Given the description of an element on the screen output the (x, y) to click on. 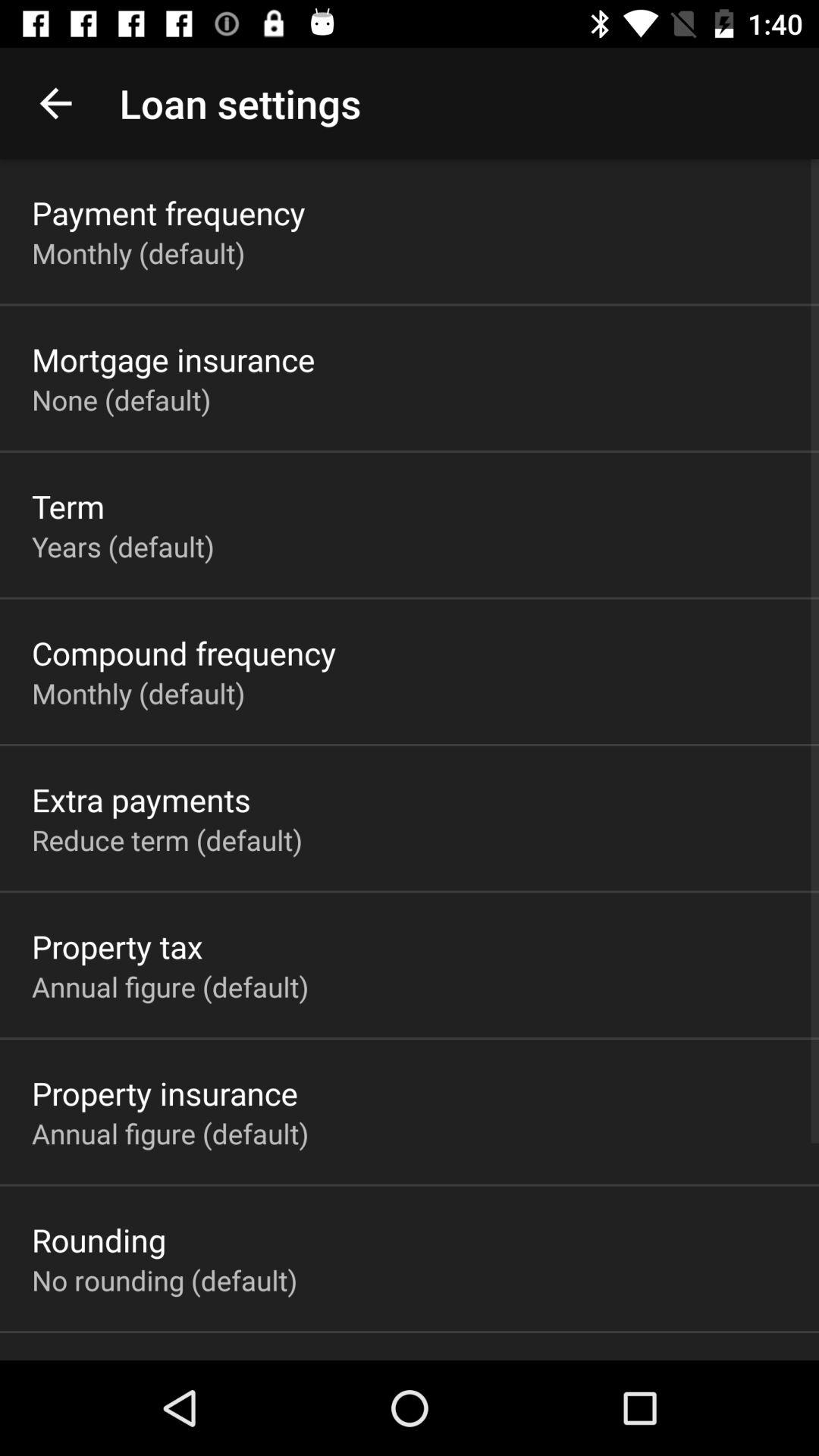
flip to the mortgage insurance item (173, 359)
